Given the description of an element on the screen output the (x, y) to click on. 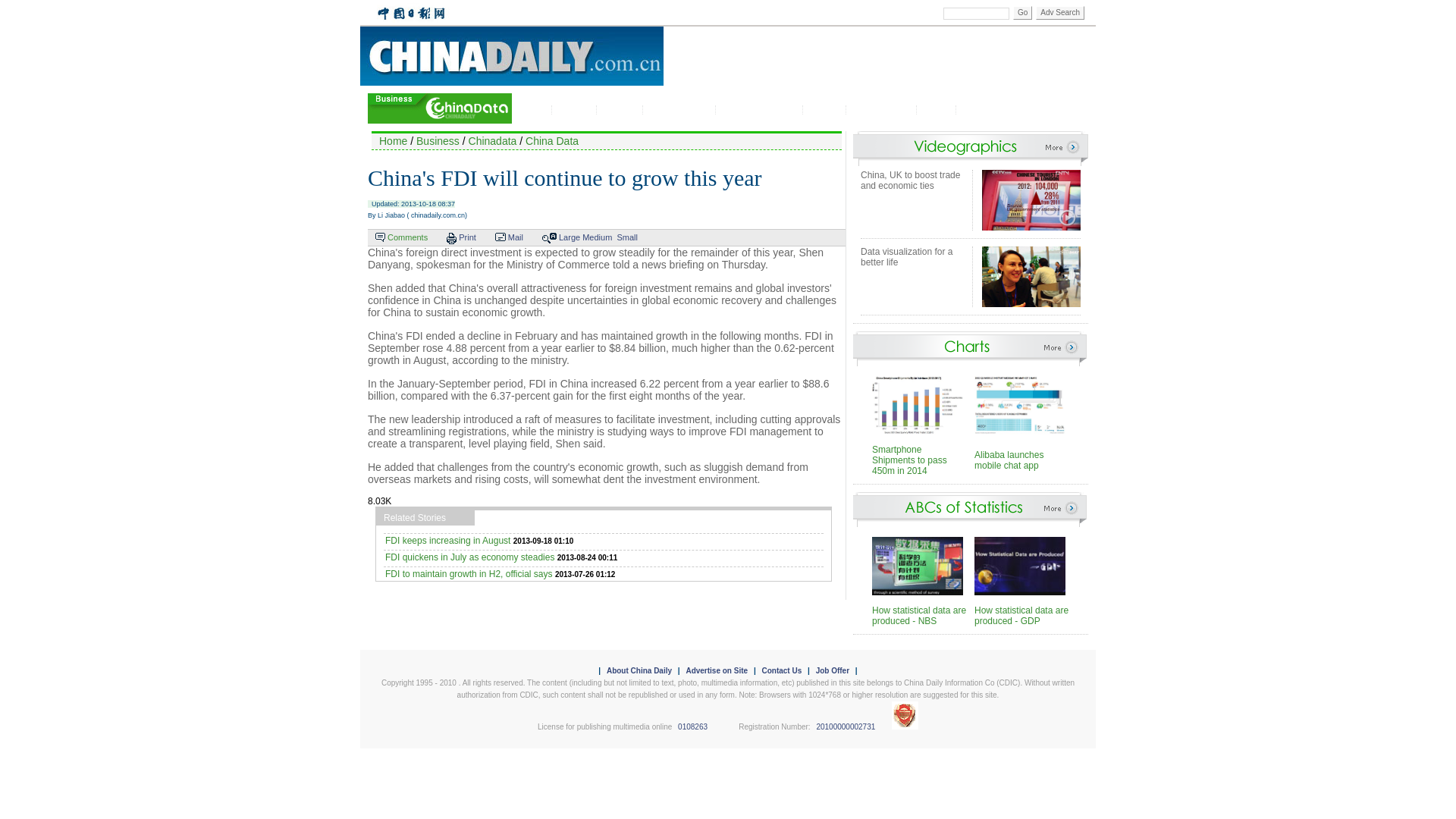
EUROPE (654, 13)
Macro (535, 109)
Adv Search (1059, 12)
Indepth (826, 109)
Regions (622, 109)
Comments (407, 236)
Print (467, 236)
Videographics (883, 109)
EUROPE (654, 13)
Business (438, 141)
